Given the description of an element on the screen output the (x, y) to click on. 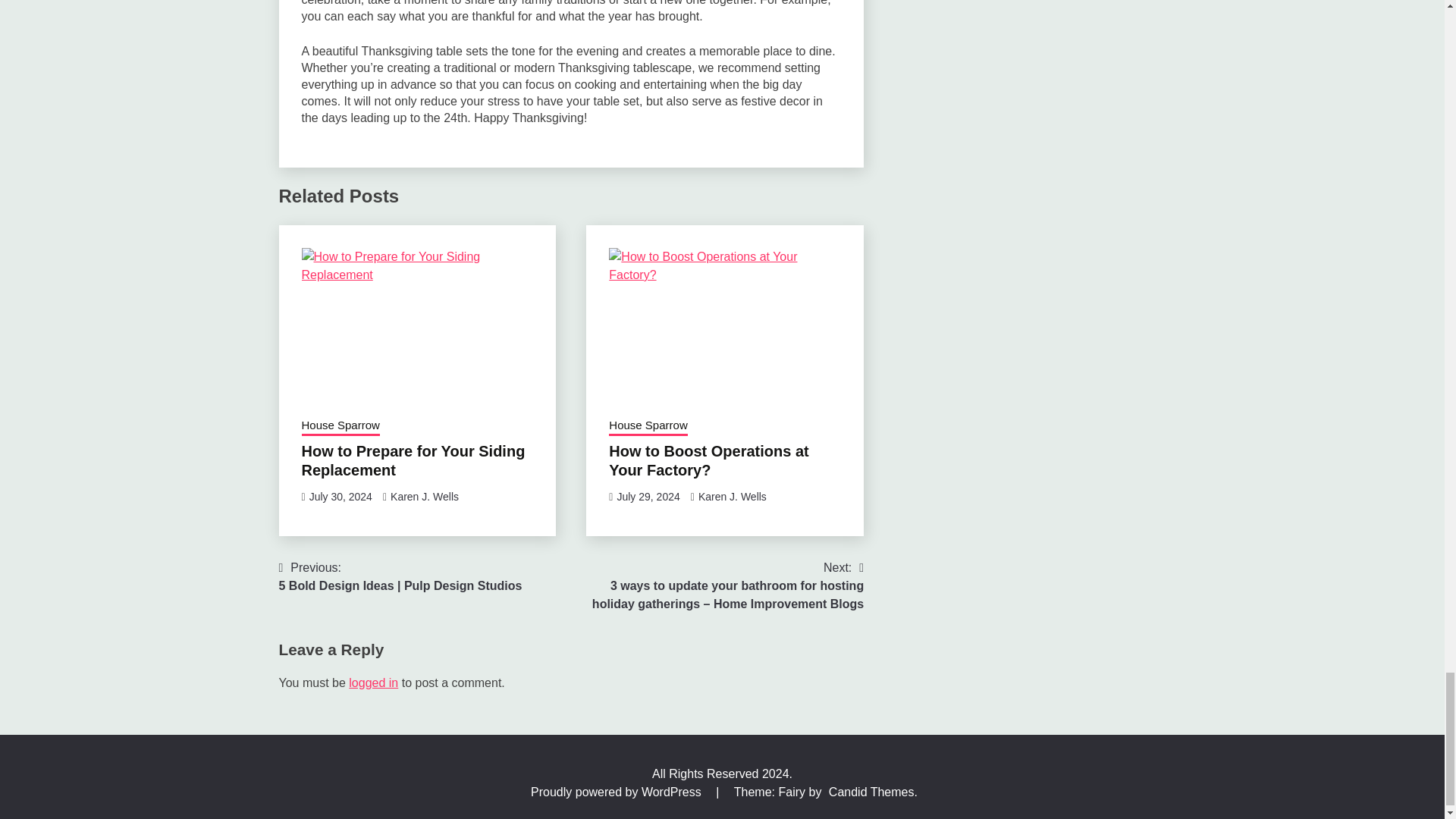
How to Prepare for Your Siding Replacement (413, 460)
House Sparrow (340, 426)
House Sparrow (647, 426)
How to Boost Operations at Your Factory? (724, 324)
Karen J. Wells (732, 496)
How to Prepare for Your Siding Replacement (417, 324)
Karen J. Wells (424, 496)
How to Boost Operations at Your Factory? (708, 460)
July 30, 2024 (340, 496)
July 29, 2024 (647, 496)
